Given the description of an element on the screen output the (x, y) to click on. 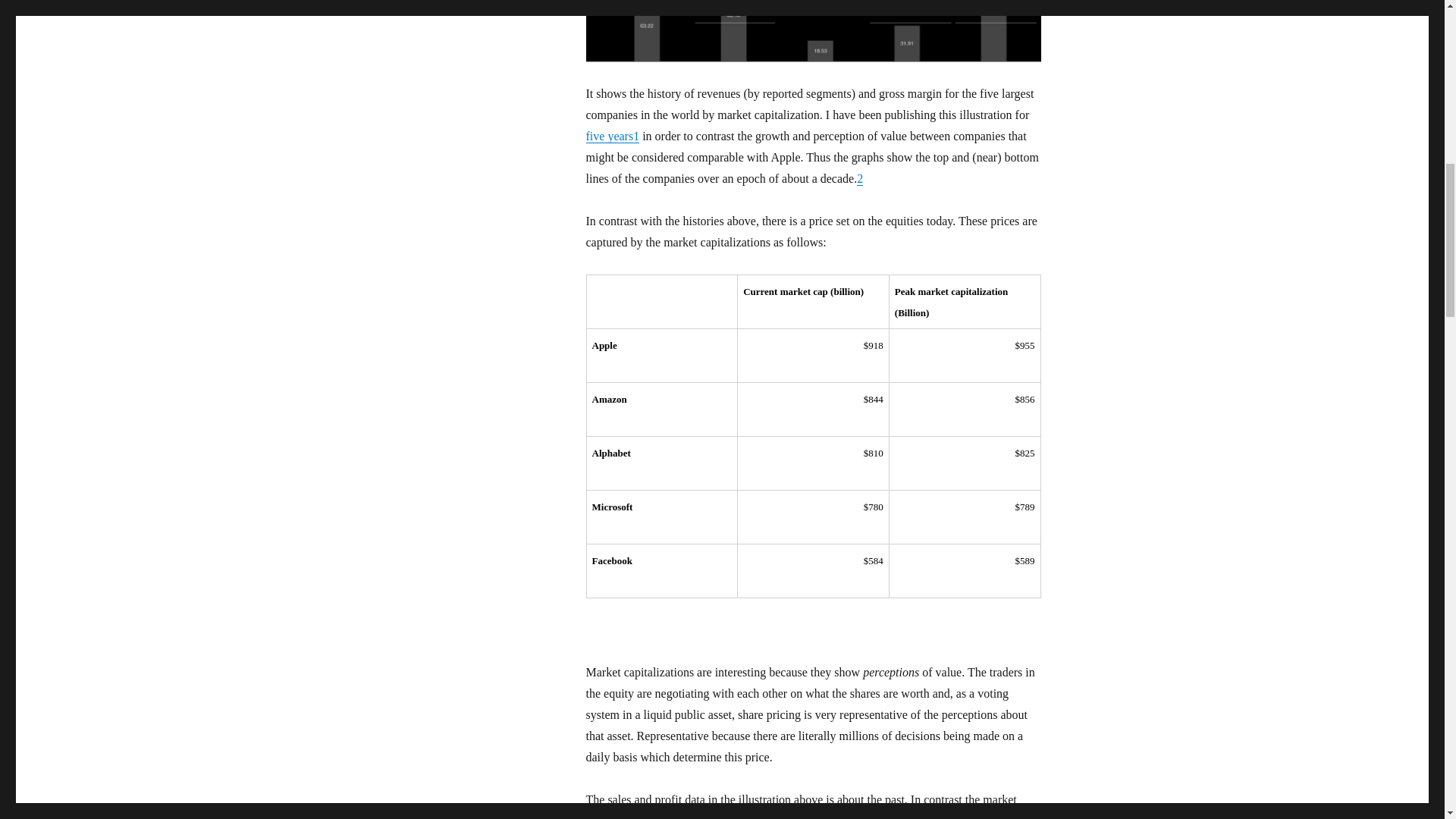
five years (609, 135)
